Given the description of an element on the screen output the (x, y) to click on. 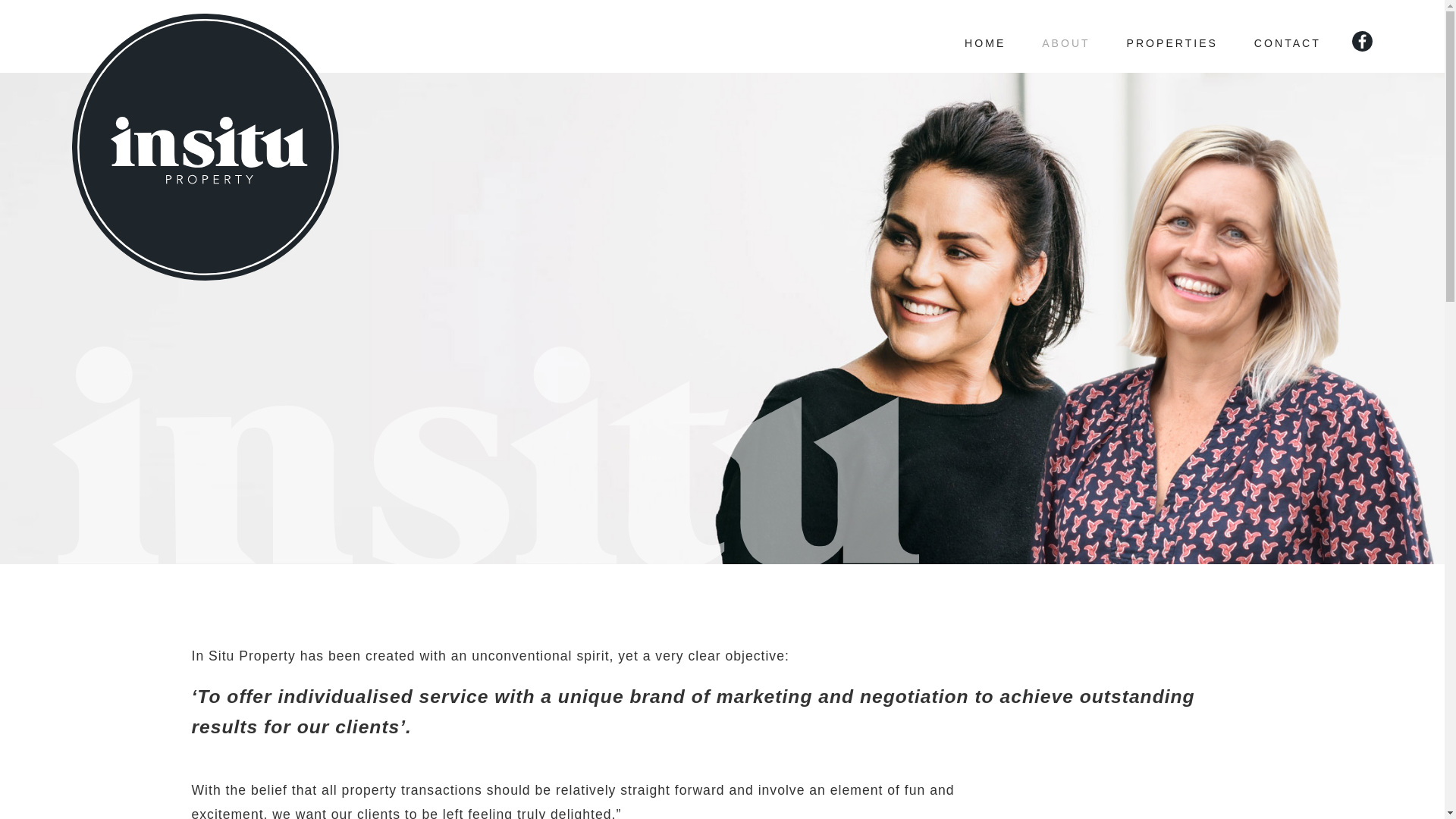
PROPERTIES Element type: text (1172, 36)
HOME Element type: text (984, 36)
CONTACT Element type: text (1287, 36)
ABOUT Element type: text (1065, 36)
